Given the description of an element on the screen output the (x, y) to click on. 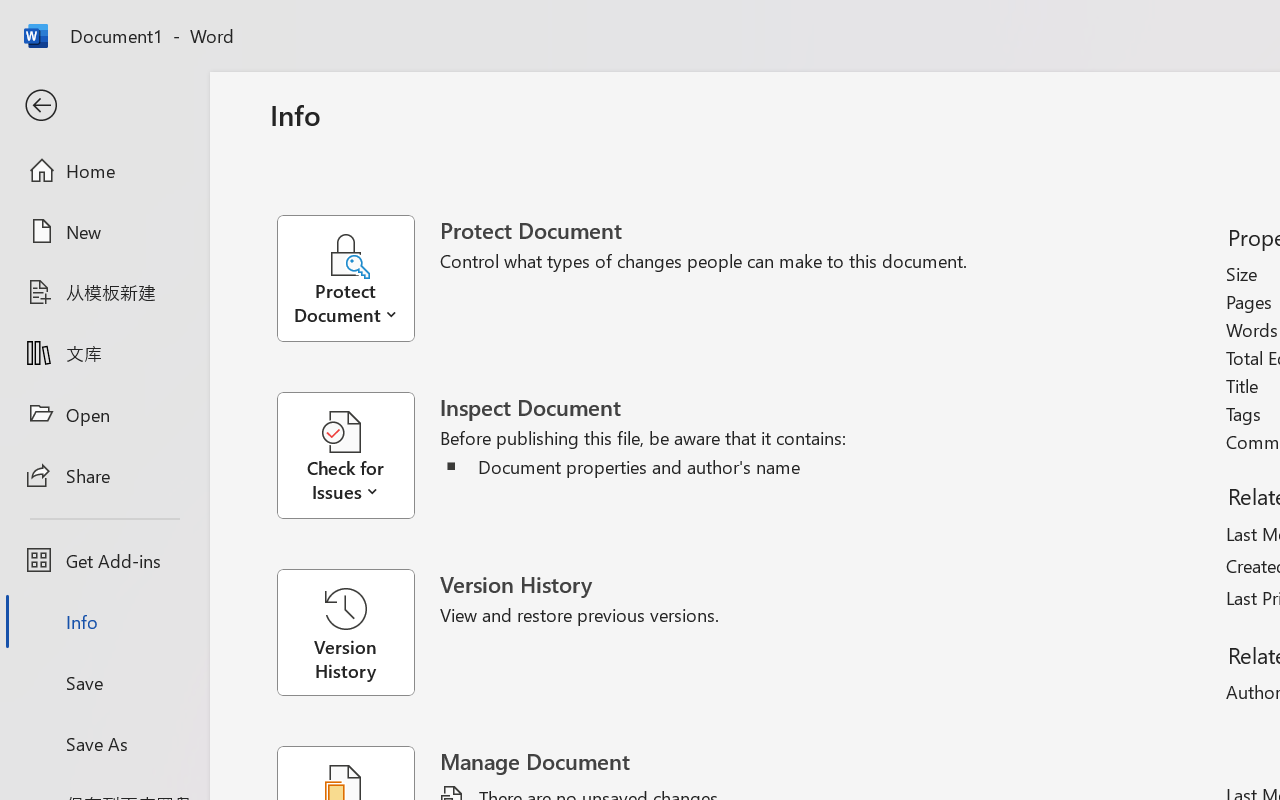
New (104, 231)
Back (104, 106)
Info (104, 621)
Get Add-ins (104, 560)
Protect Document (358, 278)
Version History (345, 632)
Check for Issues (358, 455)
